Given the description of an element on the screen output the (x, y) to click on. 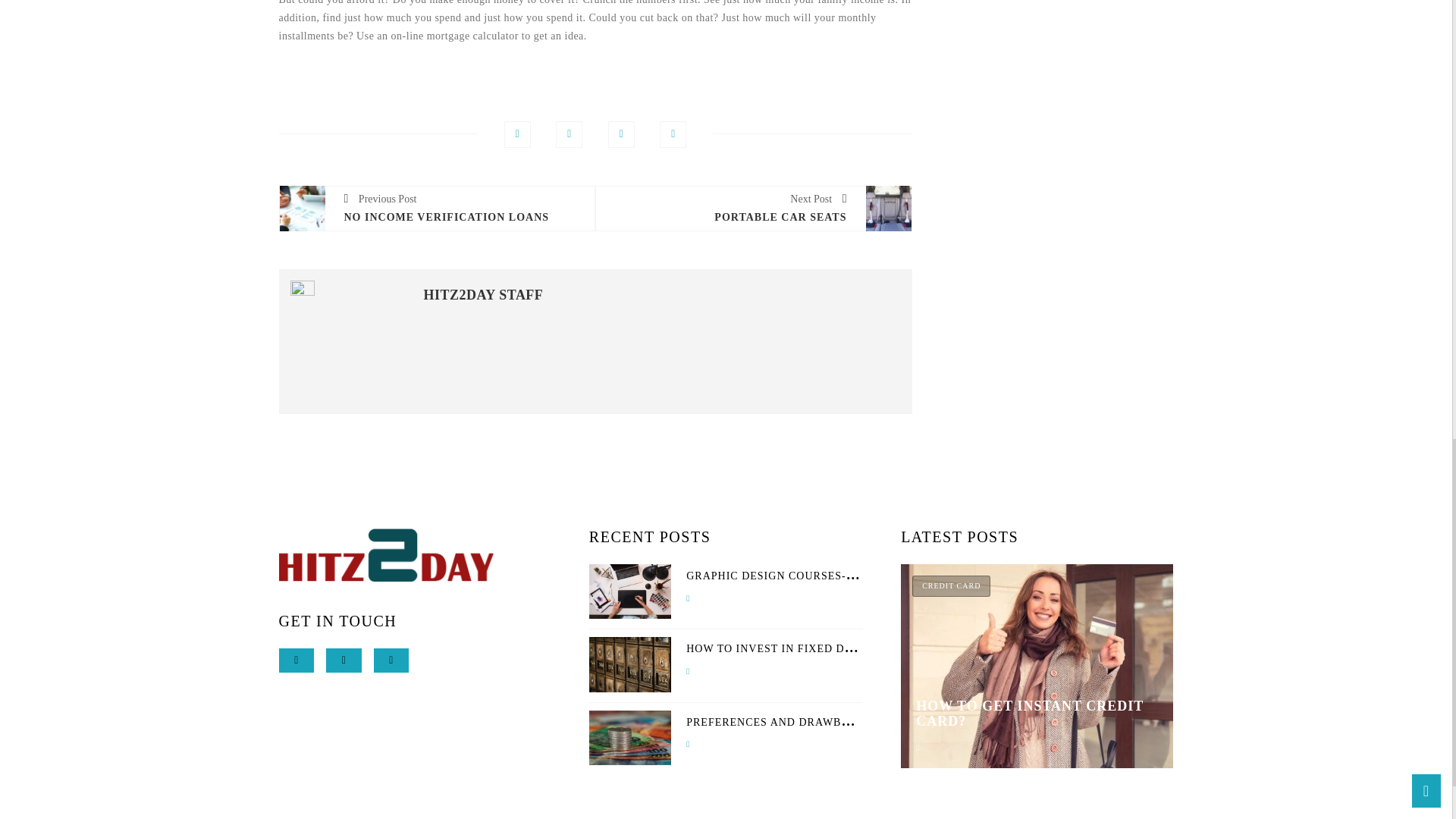
Click to share this post on Facebook (517, 134)
How To Get Instant Credit Card? (1036, 713)
Click to share this post on Twitter (569, 134)
View all posts in Credit Card (951, 586)
How to invest in fixed deposits ? (792, 648)
contact Image (387, 554)
Click to share this post on Linkedin (672, 134)
Graphic Design Courses-Providing a Multitude of Job Pathways (892, 575)
